Given the description of an element on the screen output the (x, y) to click on. 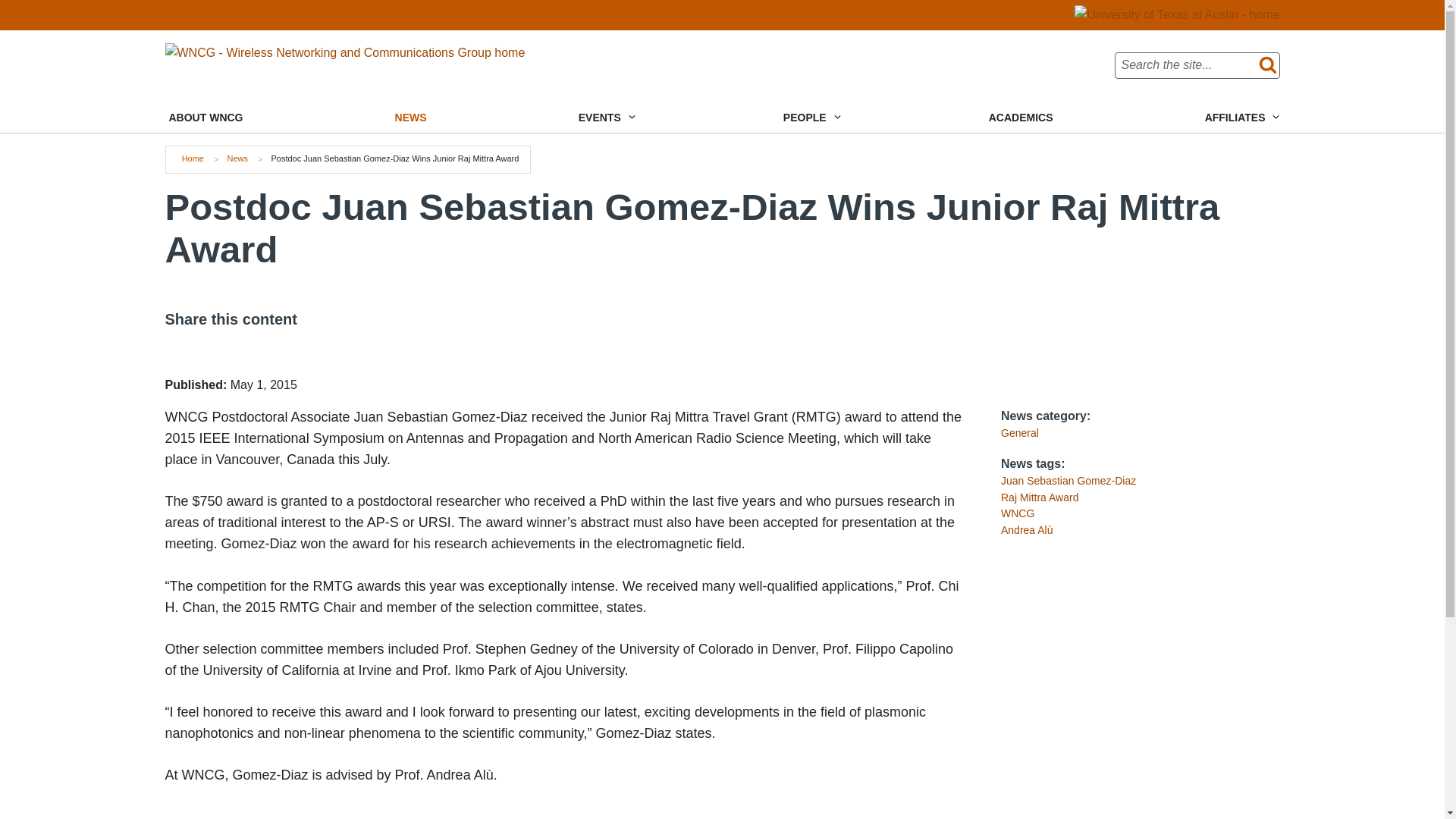
Juan Sebastian Gomez-Diaz (1068, 480)
Home (345, 51)
News (237, 157)
Raj Mittra Award (1039, 497)
Home (192, 157)
NEWS (411, 118)
PEOPLE (809, 118)
Enter the terms you wish to search for. (1197, 64)
Search (1264, 64)
EVENTS (605, 118)
